Given the description of an element on the screen output the (x, y) to click on. 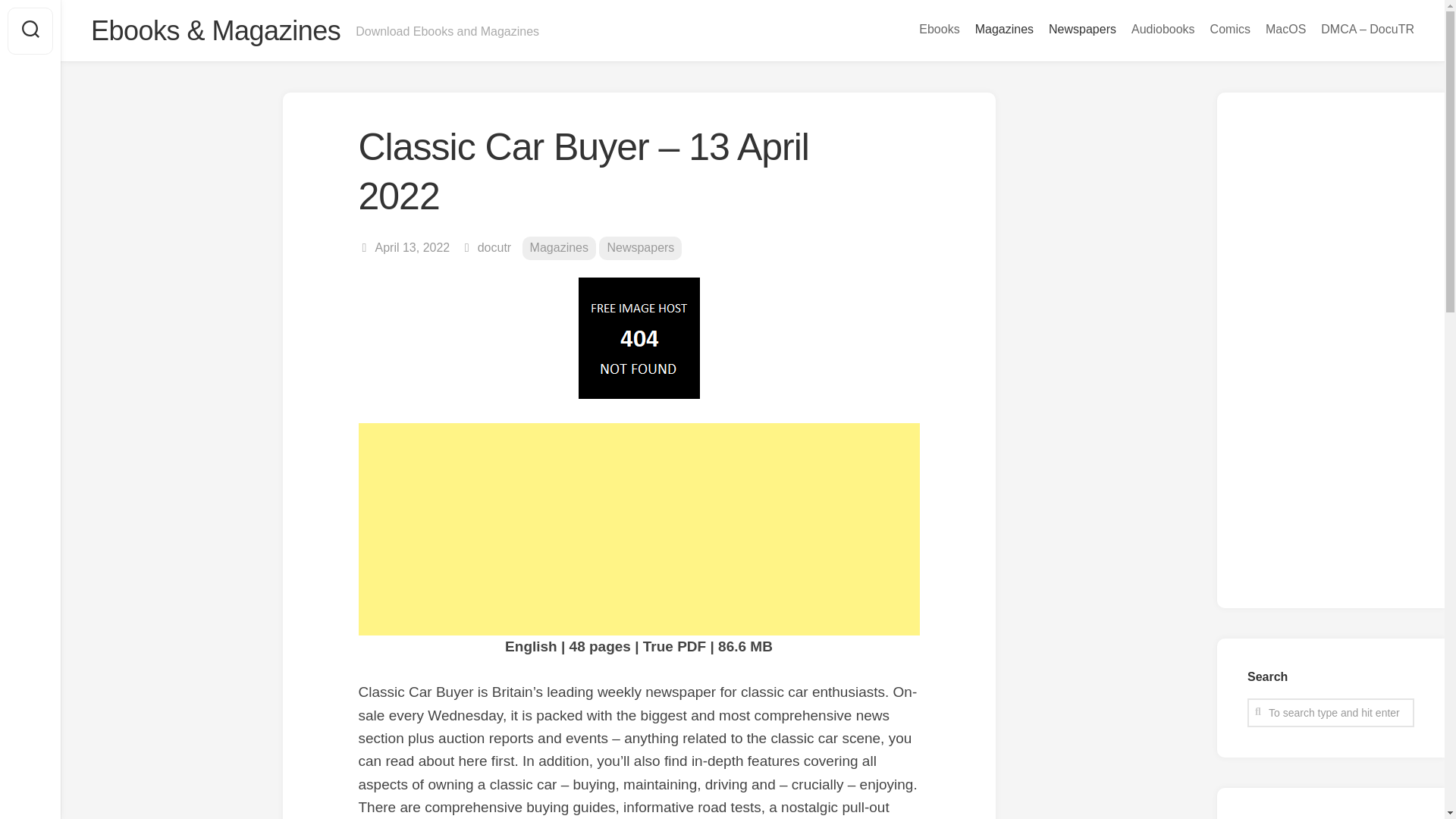
Newspapers (639, 248)
MacOS (1285, 29)
To search type and hit enter (1330, 711)
Magazines (1004, 29)
Newspapers (1082, 29)
Comics (1229, 29)
Magazines (558, 248)
To search type and hit enter (1330, 711)
Ebooks (938, 29)
docutr (494, 246)
Advertisement (638, 529)
Audiobooks (1163, 29)
Posts by docutr (494, 246)
